Given the description of an element on the screen output the (x, y) to click on. 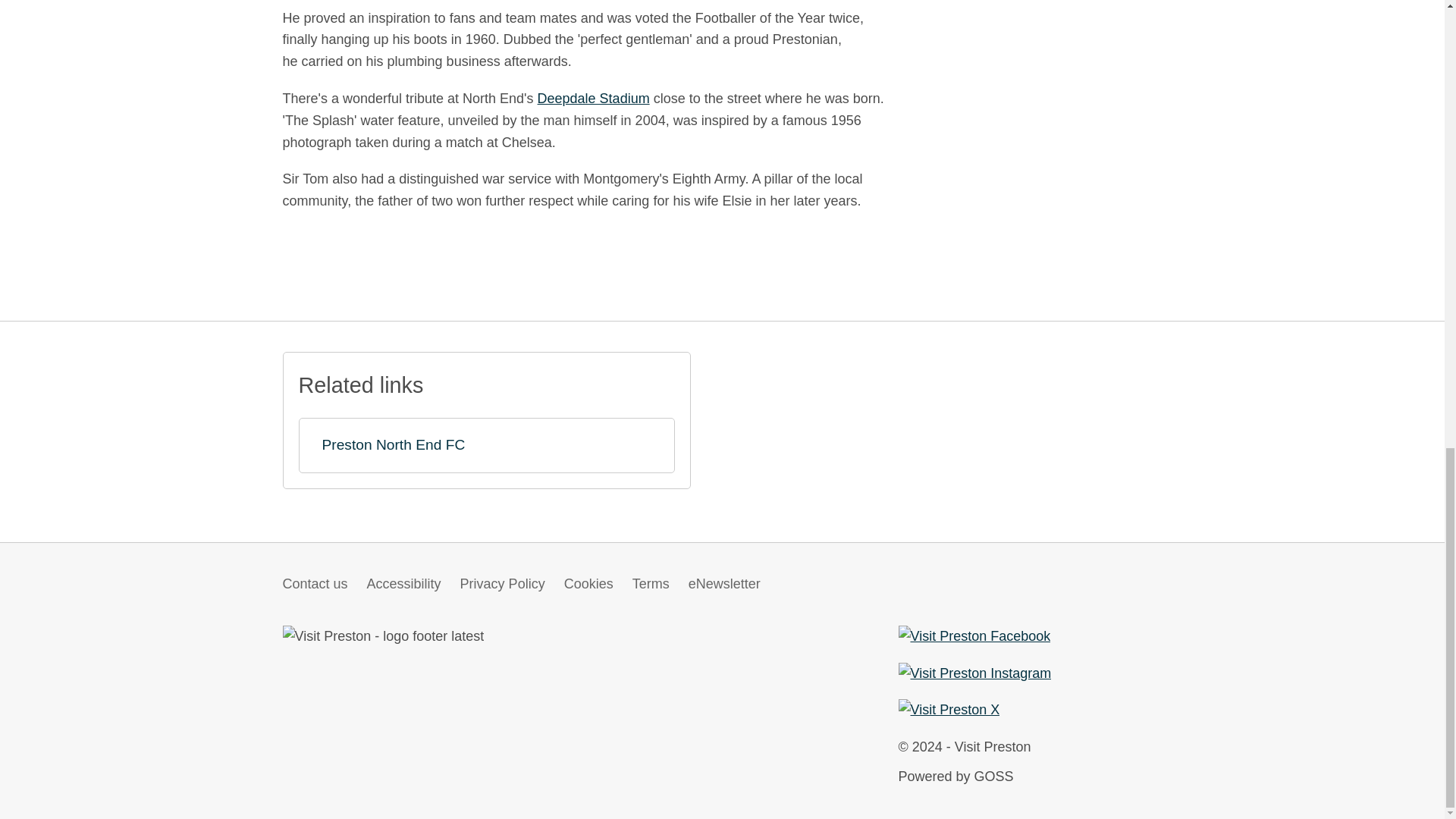
Visit Preston Instagram : opens on new browser window or tab (974, 672)
Privacy Policy (502, 583)
Deepdale Stadium (593, 98)
Accessibility (403, 583)
Terms (650, 583)
eNewsletter (724, 583)
Cookies (588, 583)
Visit Preston X : opens on new browser window or tab (948, 709)
